Given the description of an element on the screen output the (x, y) to click on. 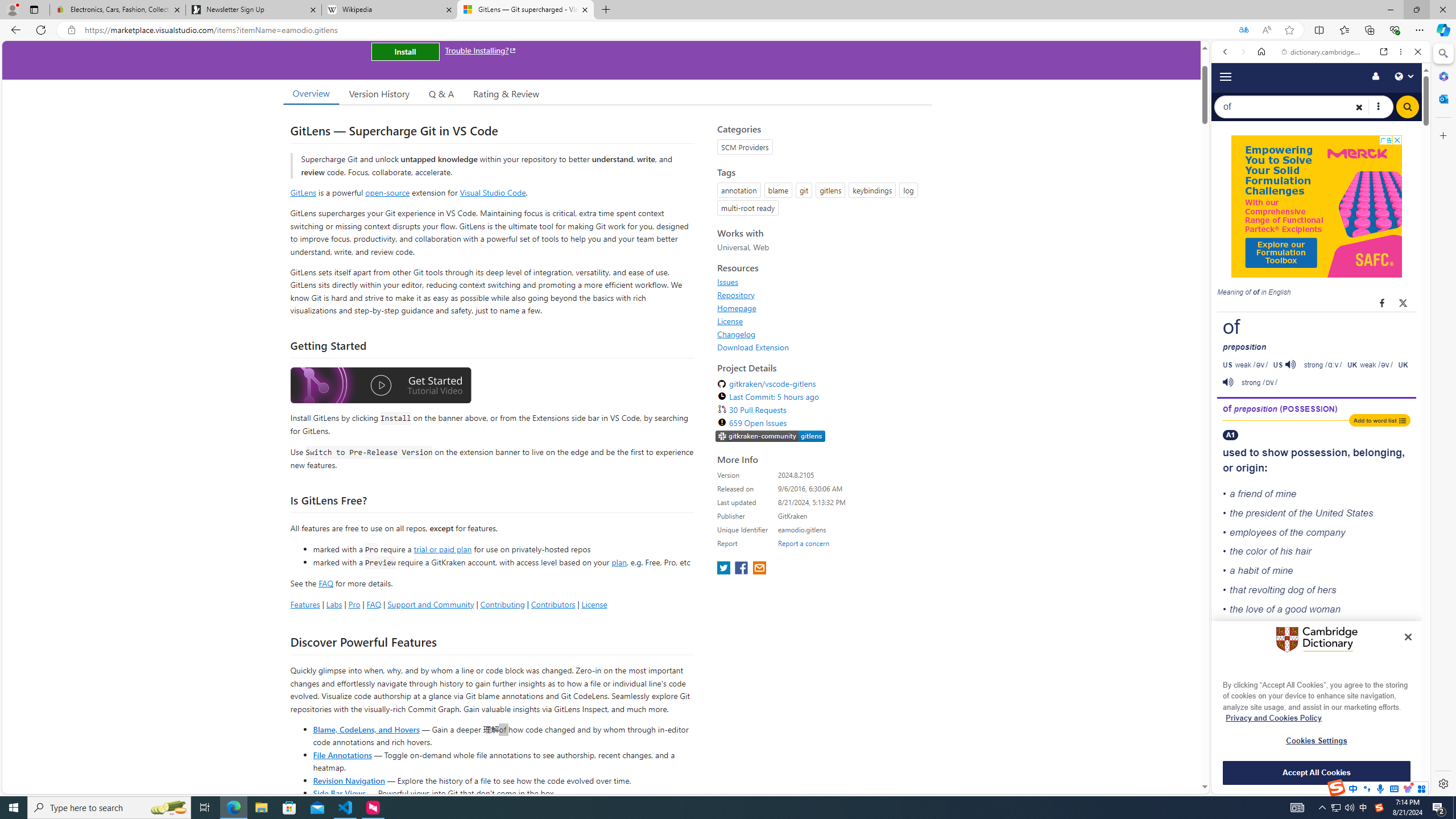
dog (1295, 589)
dictionary.cambridge.org (1323, 51)
File Annotations (342, 754)
Learn more (1264, 154)
Issues (820, 281)
OF | English meaning - Cambridge Dictionary (1315, 238)
Revision Navigation (348, 780)
Install (405, 51)
Share on X (1403, 302)
Blame, CodeLens, and Hovers (366, 728)
Open language selection panel (1403, 76)
Features (304, 603)
